Given the description of an element on the screen output the (x, y) to click on. 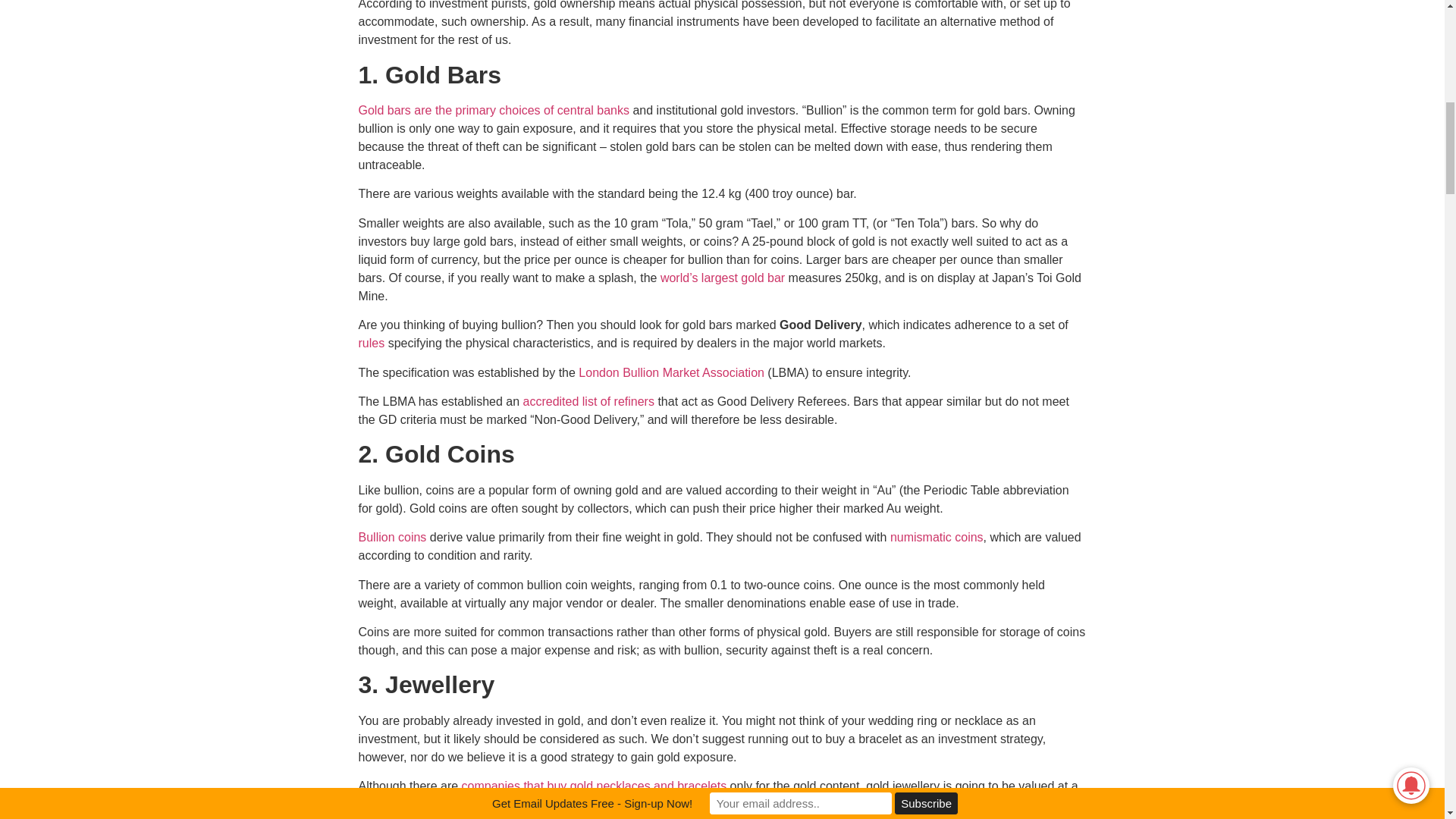
London Bullion Market Association (671, 372)
accredited list of refiners (587, 400)
rules (371, 342)
Bullion coins (392, 536)
Gold bars are the primary choices of central banks (493, 110)
